Given the description of an element on the screen output the (x, y) to click on. 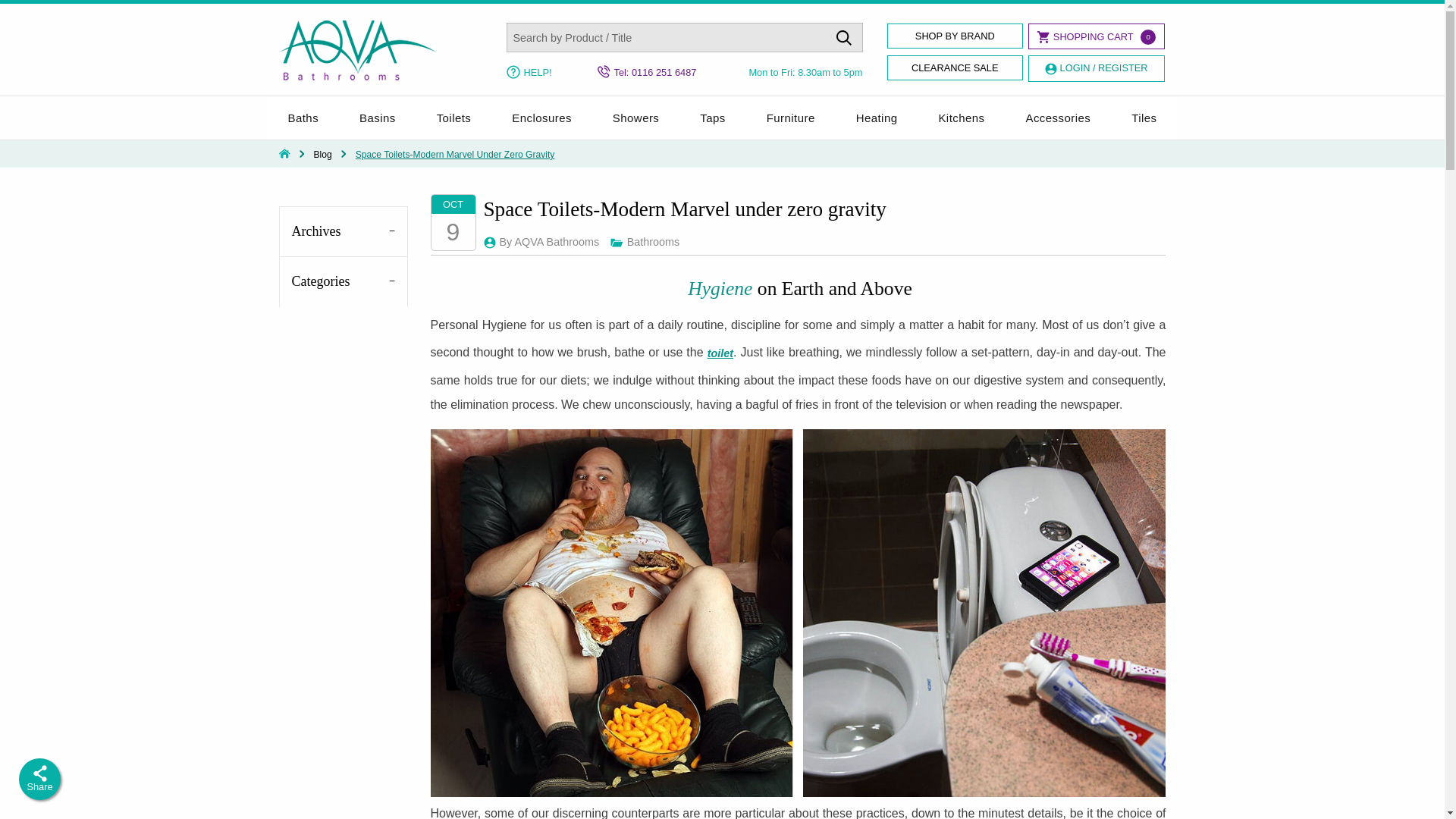
Basins (377, 117)
Basins (377, 117)
CLEARANCE SALE (954, 67)
SHOPPING CART 0 (1095, 36)
Baths (303, 117)
Baths (303, 117)
SHOP BY BRAND (954, 35)
